Given the description of an element on the screen output the (x, y) to click on. 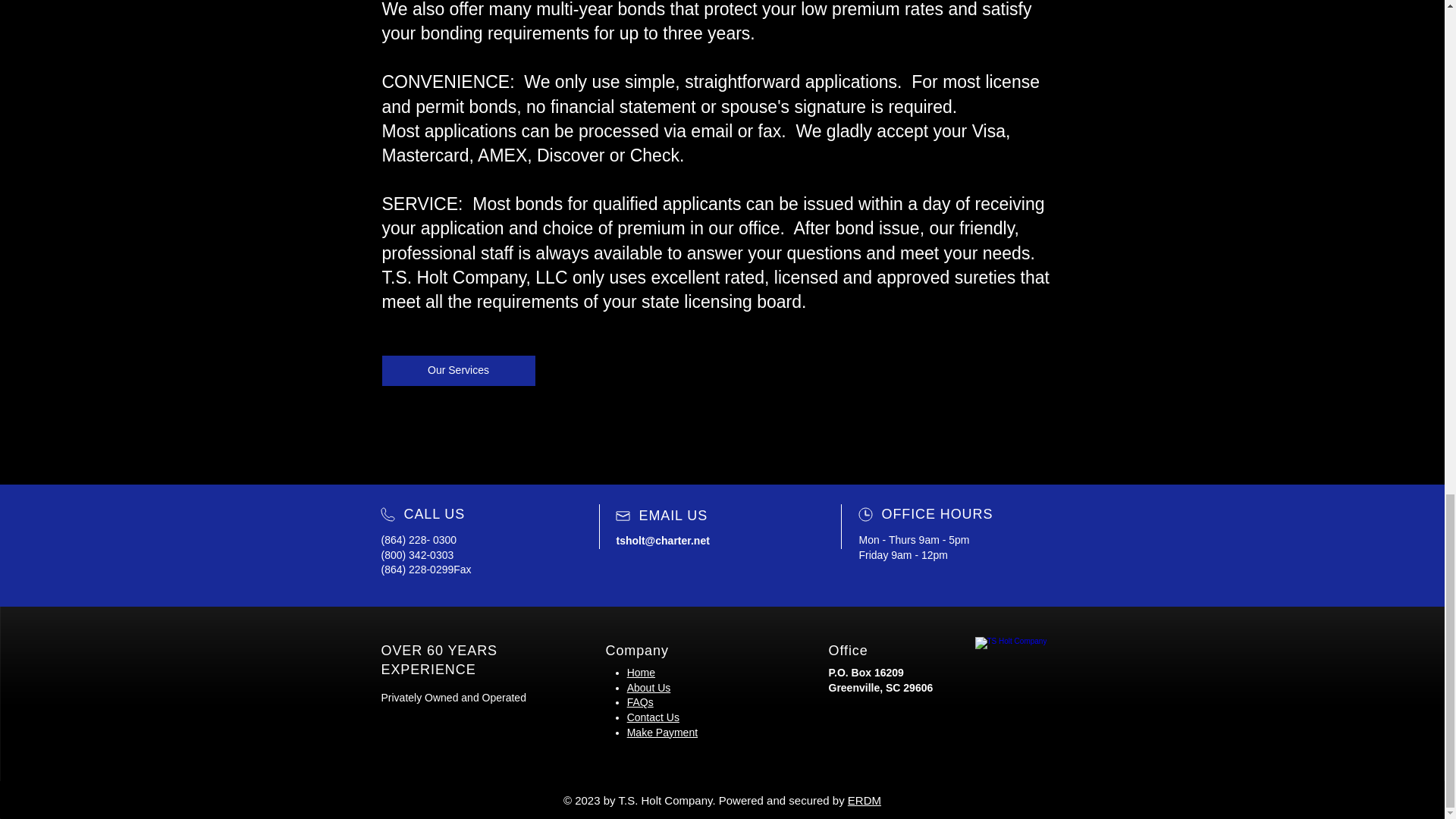
Our Services (458, 370)
FAQs (640, 702)
About Us (649, 687)
Make Payment (662, 732)
Home (641, 672)
ERDM (863, 799)
Contact Us (653, 717)
